Given the description of an element on the screen output the (x, y) to click on. 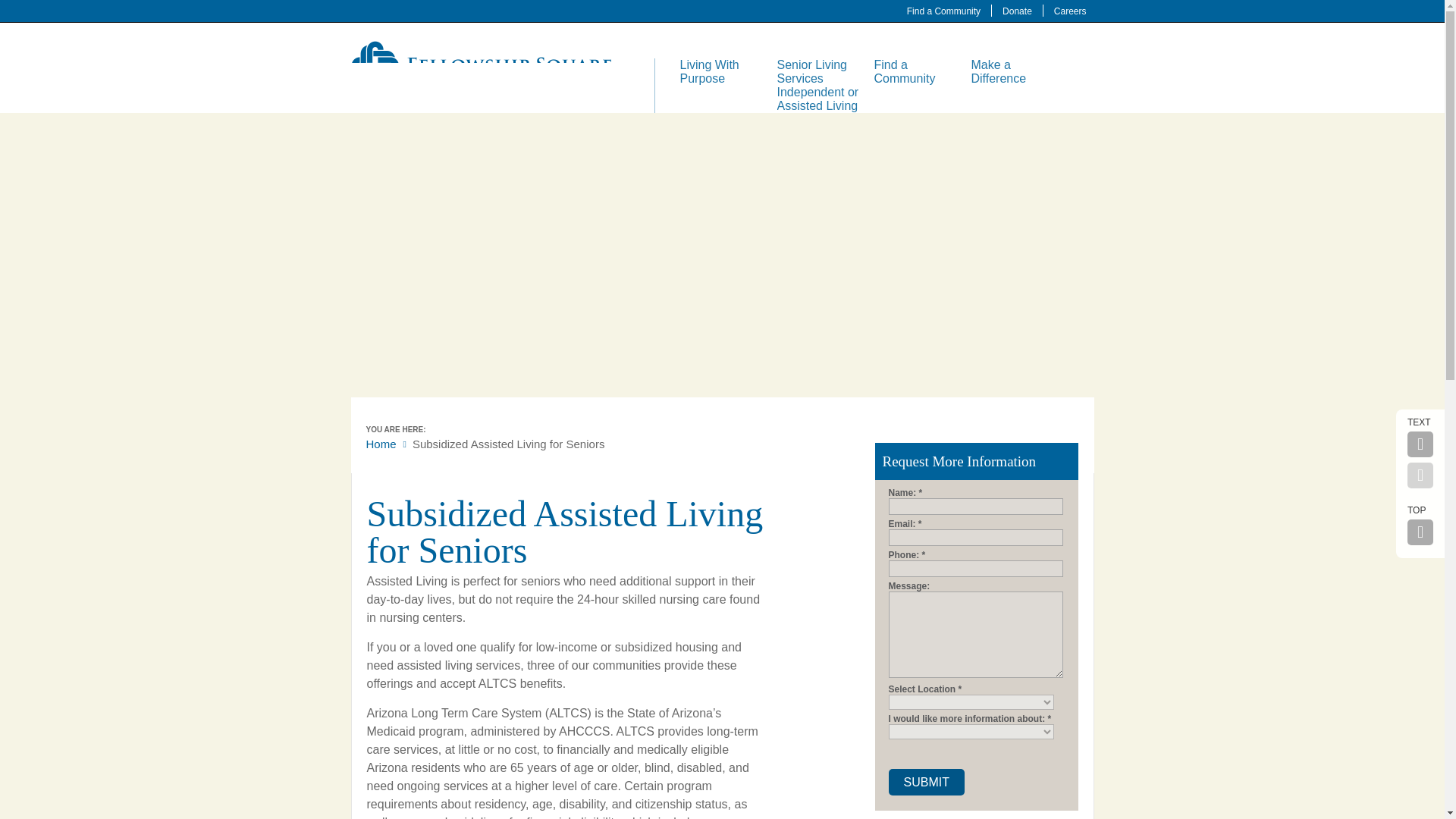
Living With Purpose (708, 71)
Home (380, 443)
Independent or Assisted Living (817, 98)
Find a Community (944, 11)
Make a Difference (998, 71)
Subsidized Senior Living (811, 262)
Careers (1070, 11)
Find a Community (903, 71)
Healthcare Services (805, 180)
Donate (1016, 11)
